Given the description of an element on the screen output the (x, y) to click on. 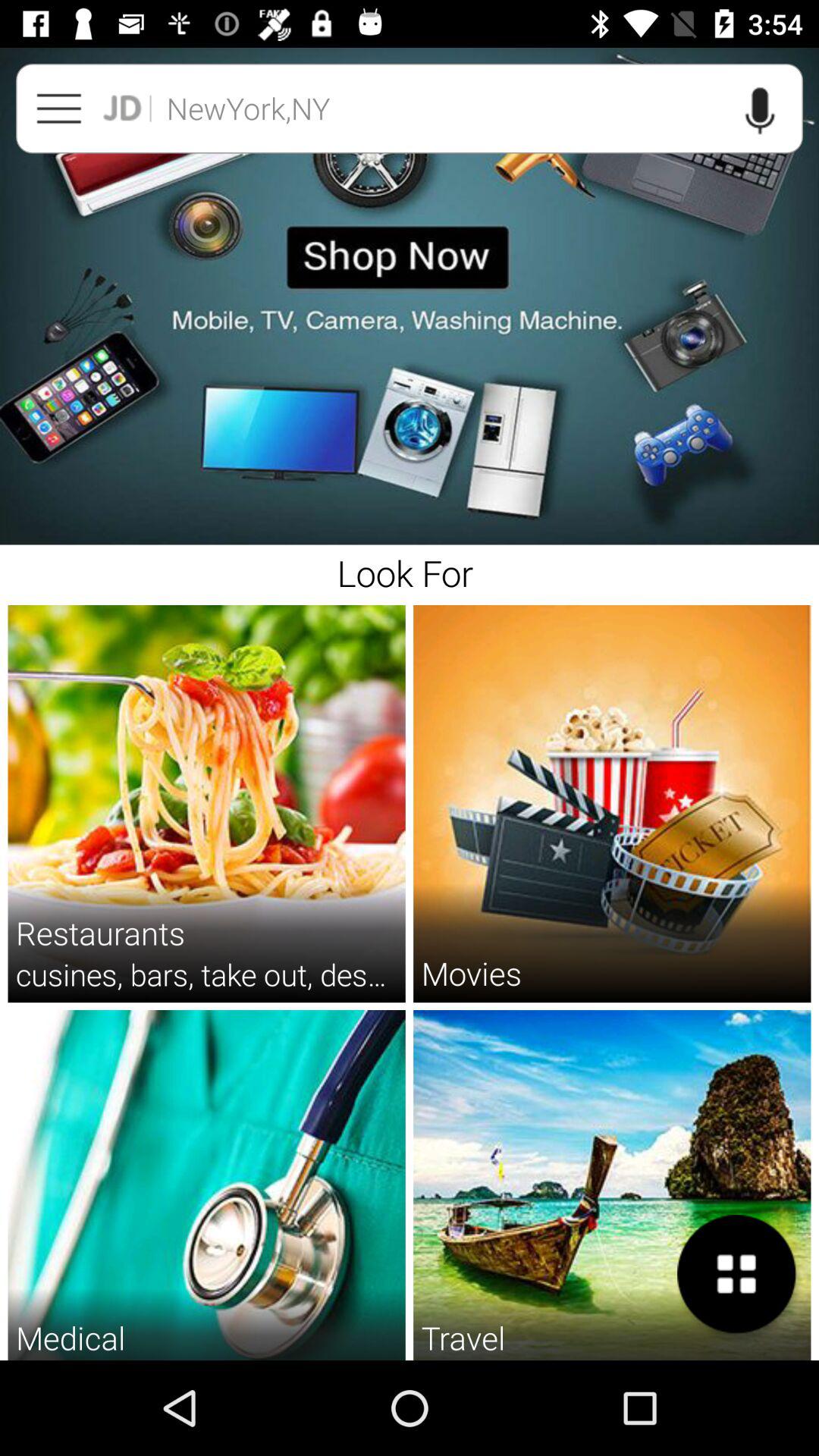
press look for  icon (409, 570)
